Given the description of an element on the screen output the (x, y) to click on. 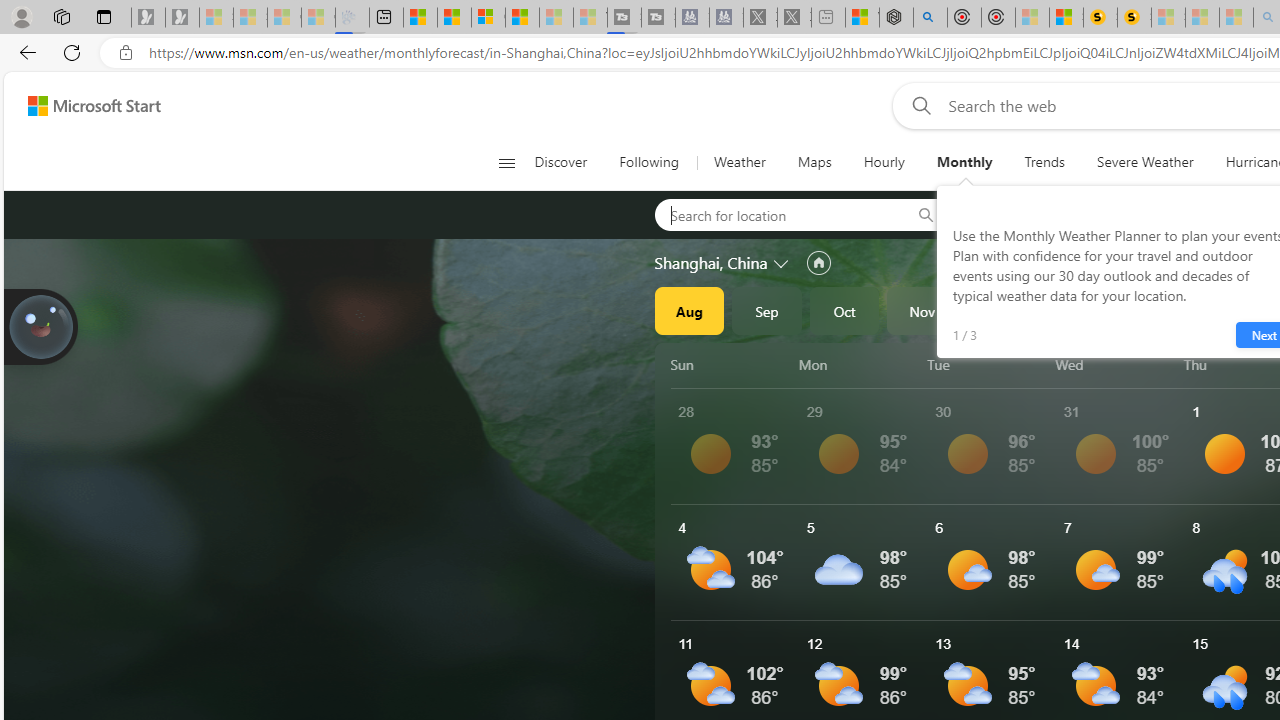
2025 Jan (1077, 310)
Severe Weather (1145, 162)
Remove location (1149, 214)
Sun (731, 363)
Microsoft Start - Sleeping (556, 17)
Maps (813, 162)
